Given the description of an element on the screen output the (x, y) to click on. 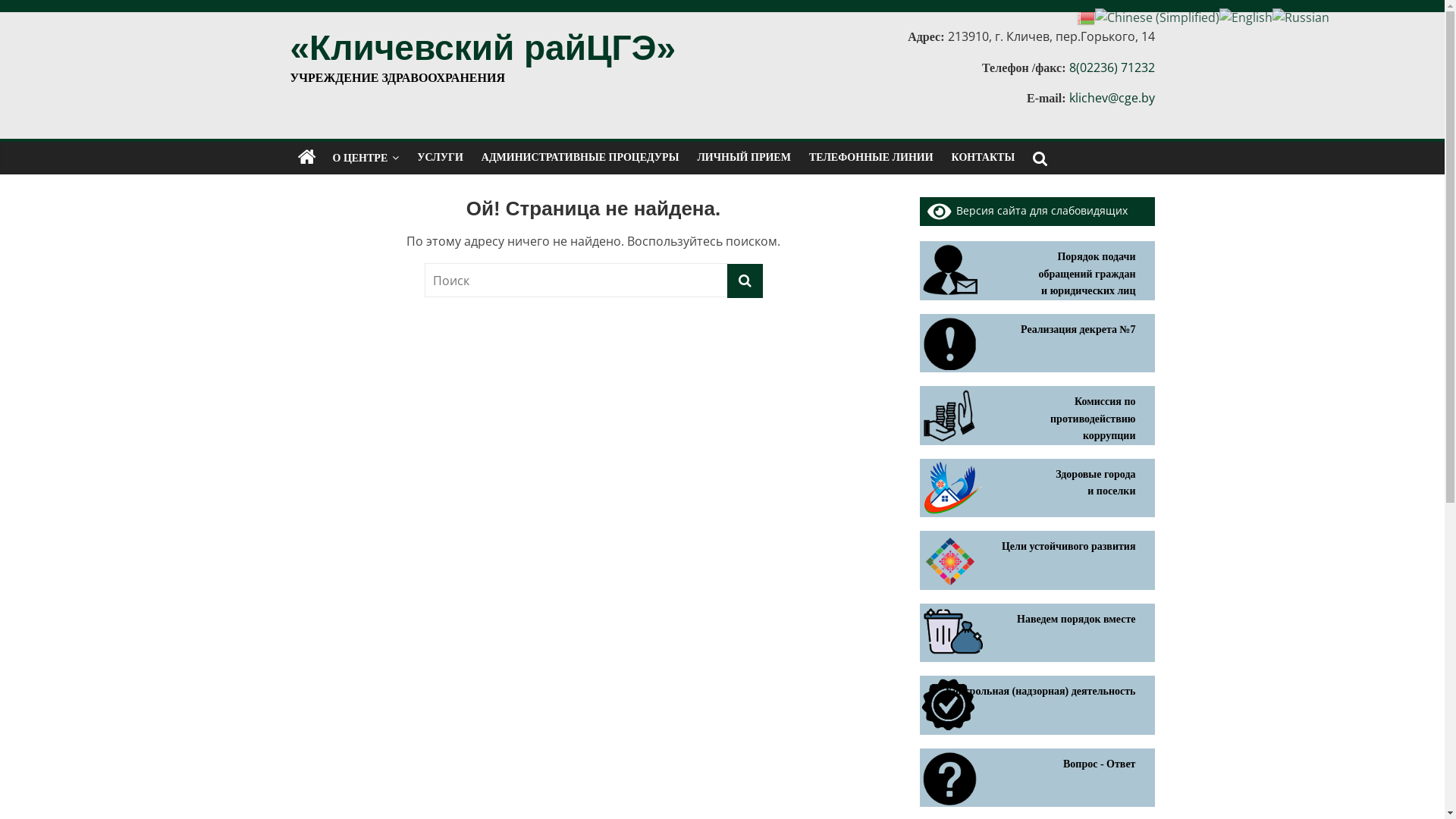
Russian Element type: hover (1300, 16)
Belarusian Element type: hover (1085, 16)
English Element type: hover (1245, 16)
Chinese (Simplified) Element type: hover (1157, 16)
8(02236) 71232 Element type: text (1111, 67)
klichev@cge.by Element type: text (1111, 97)
